Given the description of an element on the screen output the (x, y) to click on. 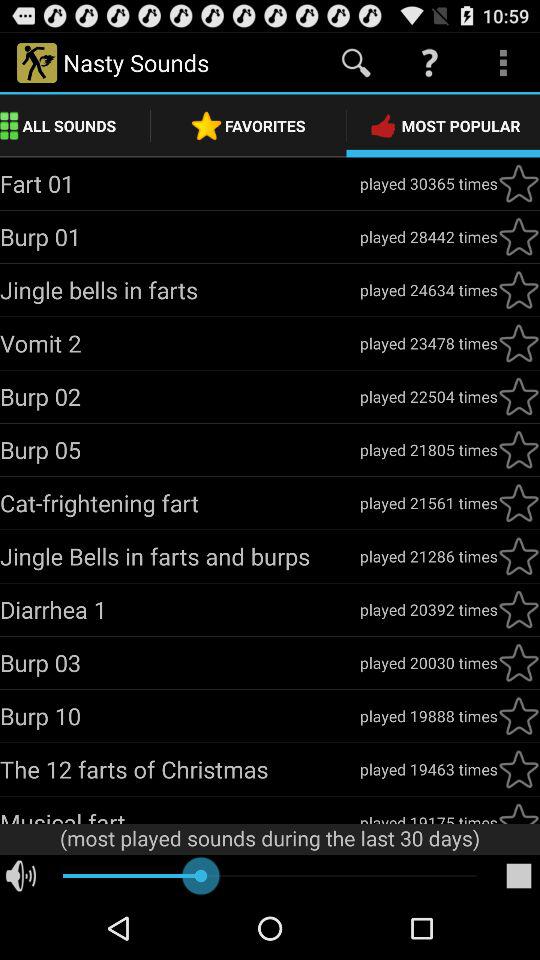
give the rating (519, 503)
